Given the description of an element on the screen output the (x, y) to click on. 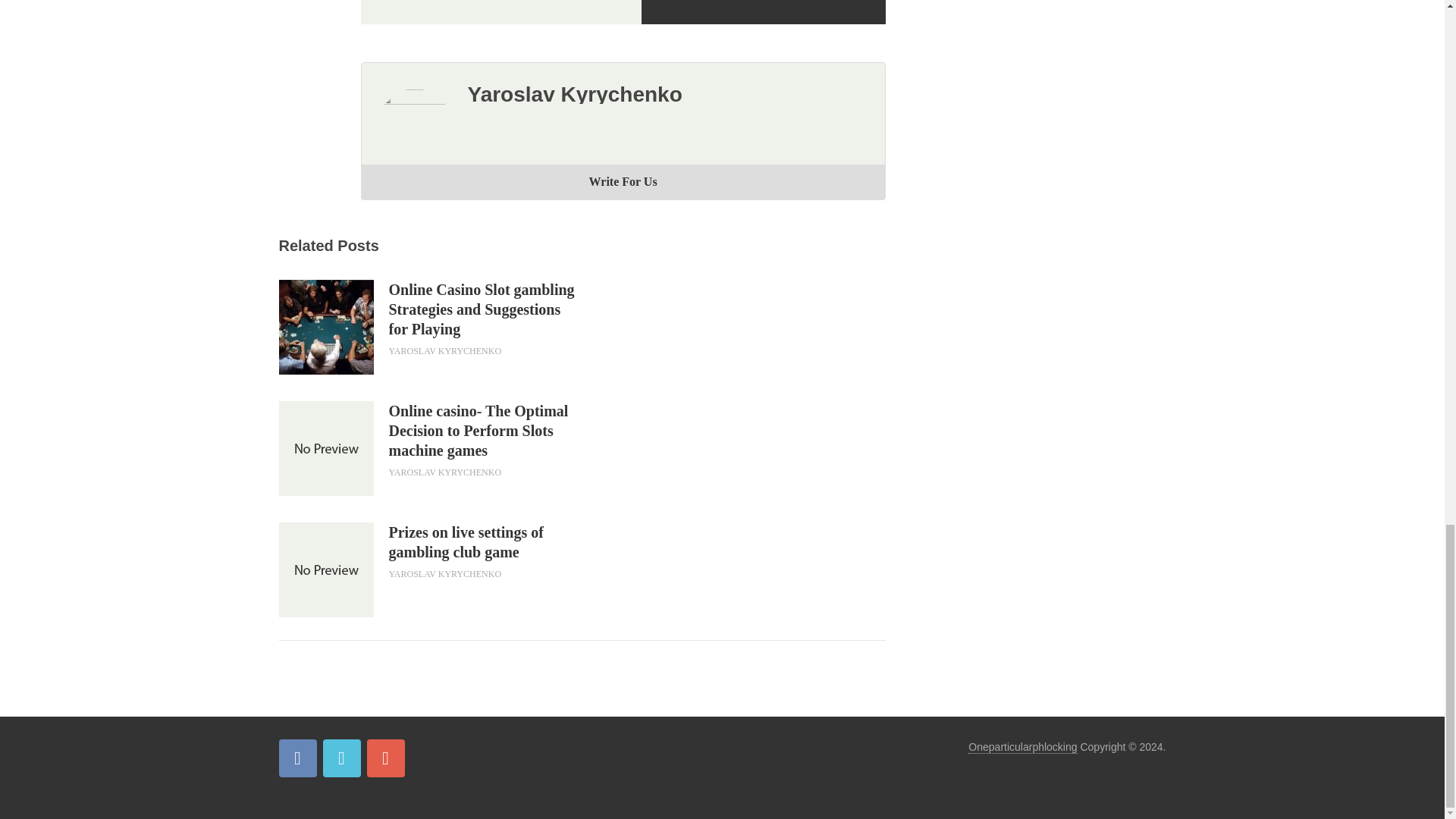
Prizes on live settings of gambling club game (326, 569)
Posts by Yaroslav Kyrychenko (444, 471)
YAROSLAV KYRYCHENKO (444, 350)
Prizes on live settings of gambling club game (484, 541)
YAROSLAV KYRYCHENKO (444, 471)
Posts by Yaroslav Kyrychenko (444, 350)
Prizes on live settings of gambling club game (484, 541)
YAROSLAV KYRYCHENKO (444, 573)
Yaroslav Kyrychenko (574, 94)
Posts by Yaroslav Kyrychenko (444, 573)
